Given the description of an element on the screen output the (x, y) to click on. 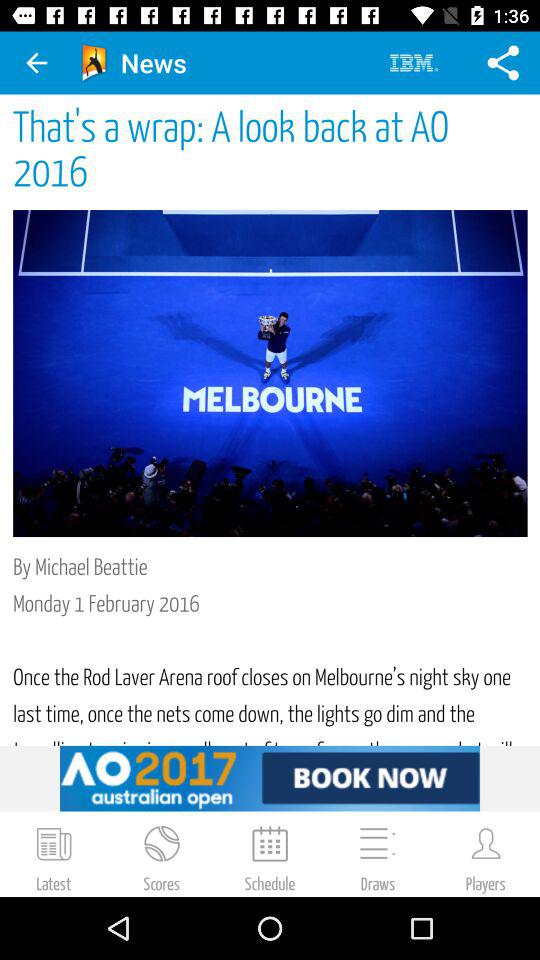
book tickets (270, 778)
